Given the description of an element on the screen output the (x, y) to click on. 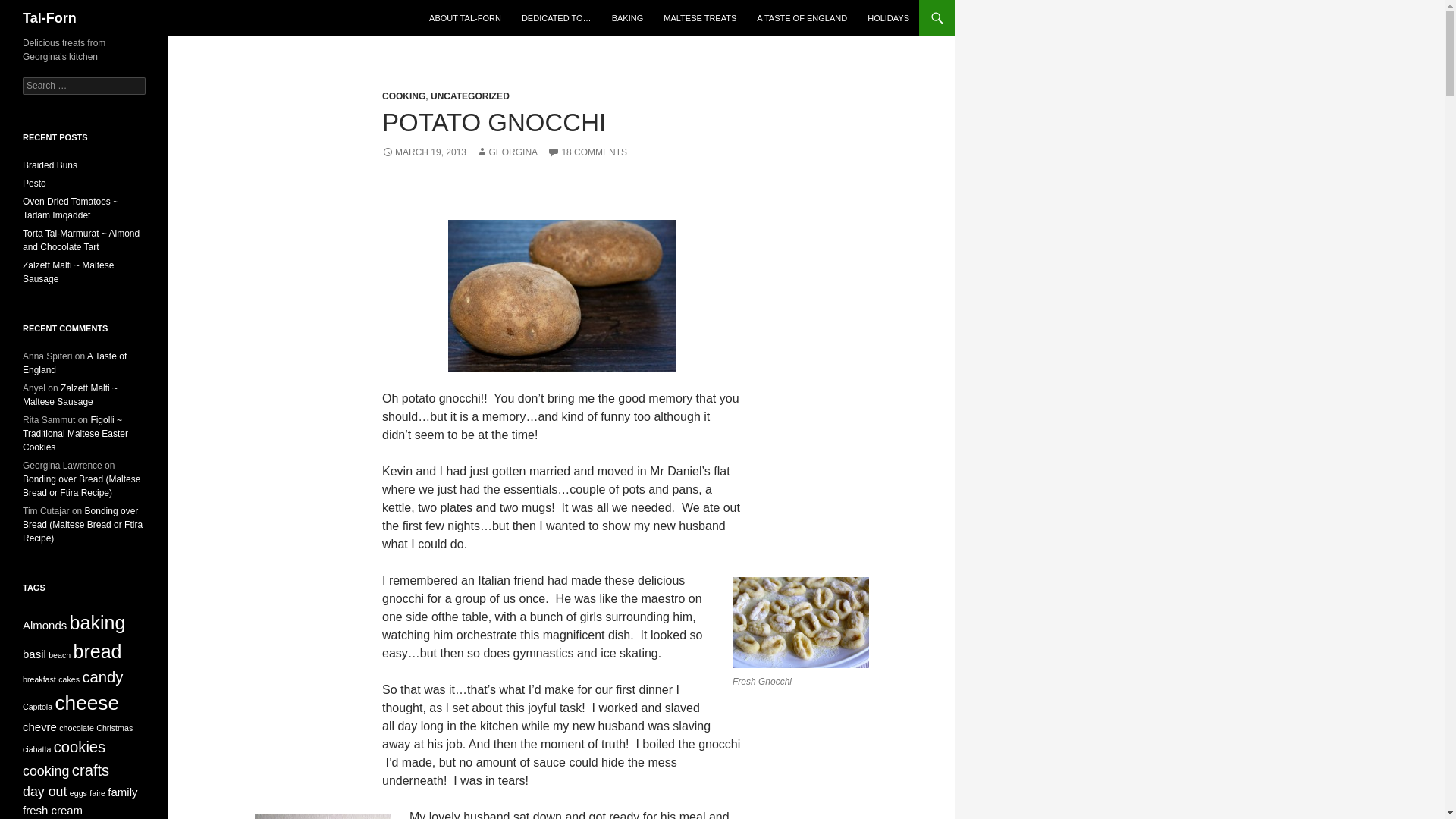
ABOUT TAL-FORN (465, 18)
A TASTE OF ENGLAND (802, 18)
BAKING (627, 18)
HOLIDAYS (888, 18)
COOKING (403, 95)
18 COMMENTS (587, 152)
Tal-Forn (50, 18)
MARCH 19, 2013 (423, 152)
UNCATEGORIZED (469, 95)
MALTESE TREATS (699, 18)
